Given the description of an element on the screen output the (x, y) to click on. 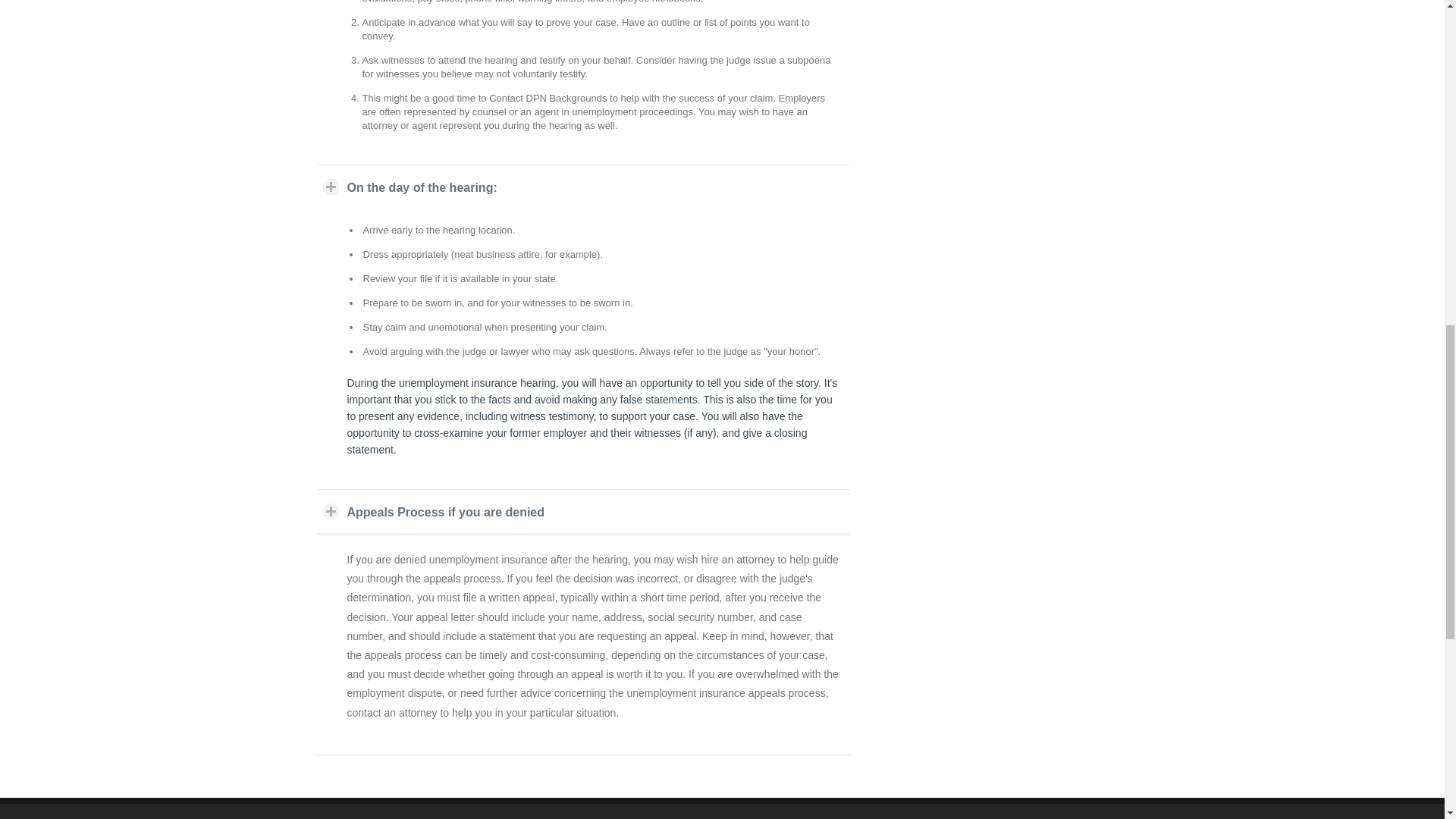
Appeals Process if you are denied (583, 511)
On the day of the hearing: (583, 186)
